Given the description of an element on the screen output the (x, y) to click on. 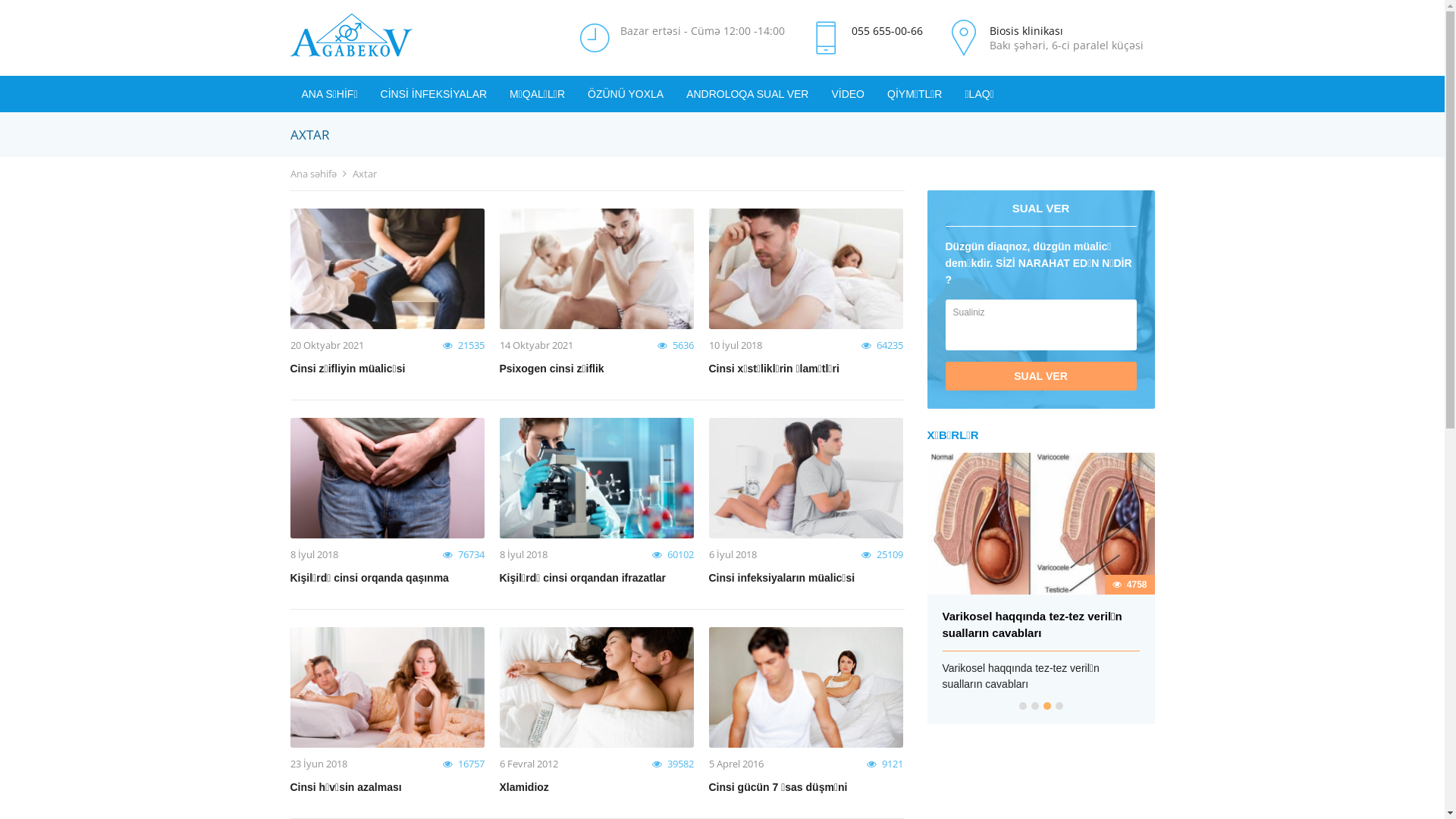
ANDROLOQA SUAL VER Element type: text (746, 93)
055 655-00-66 Element type: text (886, 30)
